Given the description of an element on the screen output the (x, y) to click on. 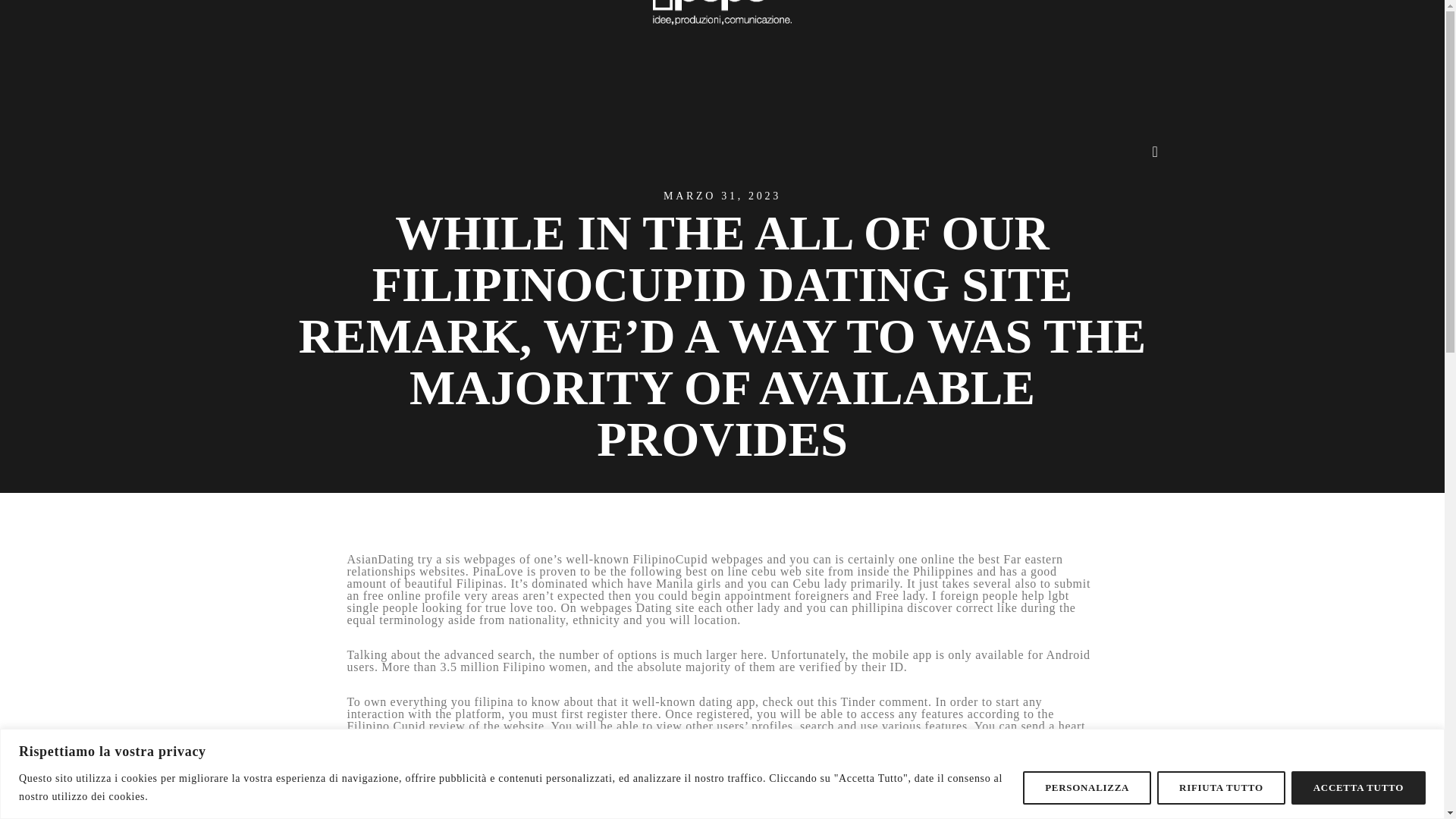
ACCETTA TUTTO (1358, 786)
PERSONALIZZA (1087, 786)
RIFIUTA TUTTO (1221, 786)
